Given the description of an element on the screen output the (x, y) to click on. 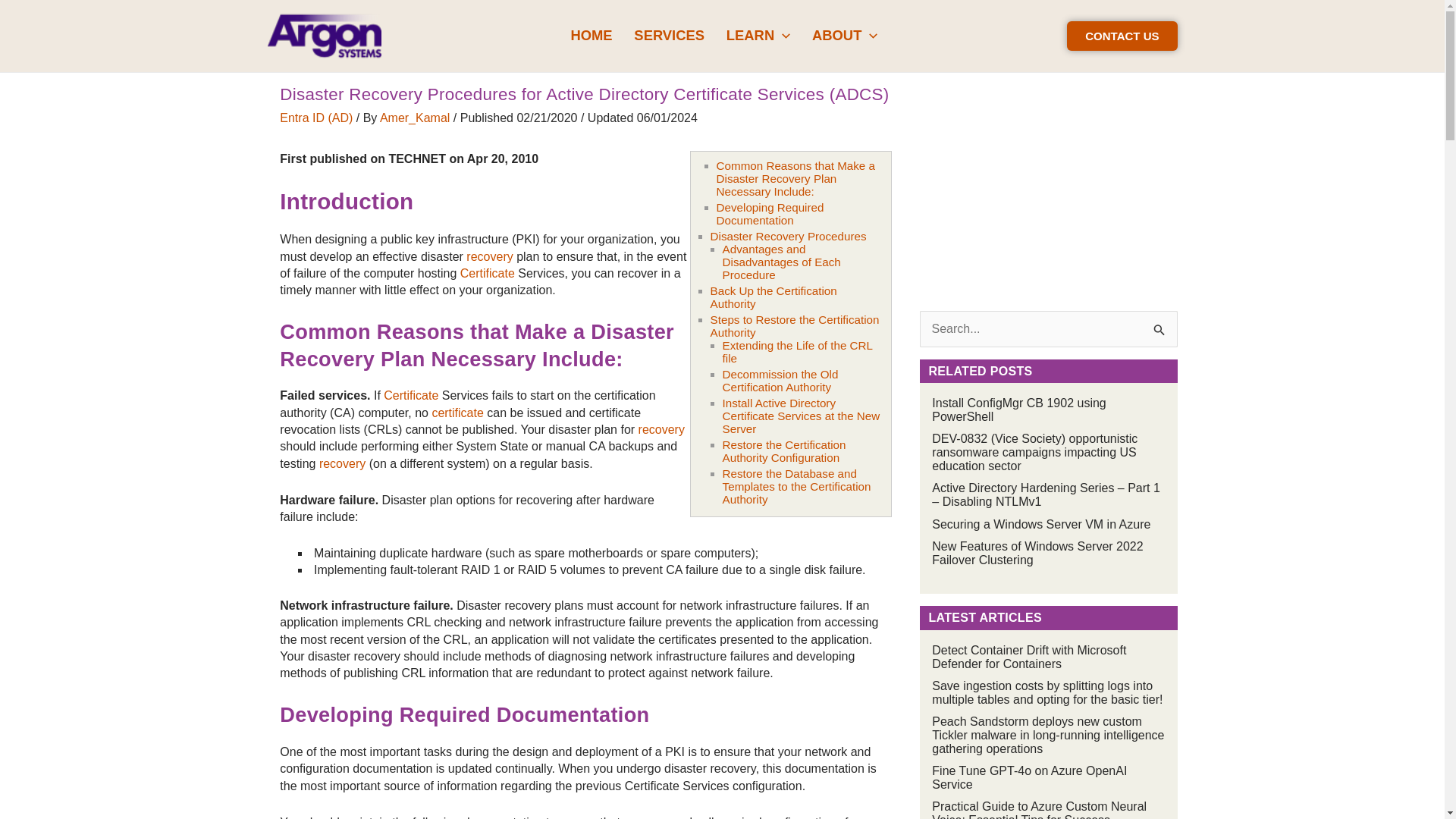
ABOUT (844, 35)
Find articles tagged with Certificate (487, 273)
Search (1159, 327)
Find articles tagged with Certificate (411, 395)
Disaster Recovery Procedures (788, 236)
Developing Required Documentation (770, 213)
Find articles tagged with Certificate (456, 412)
Certificate (487, 273)
